Given the description of an element on the screen output the (x, y) to click on. 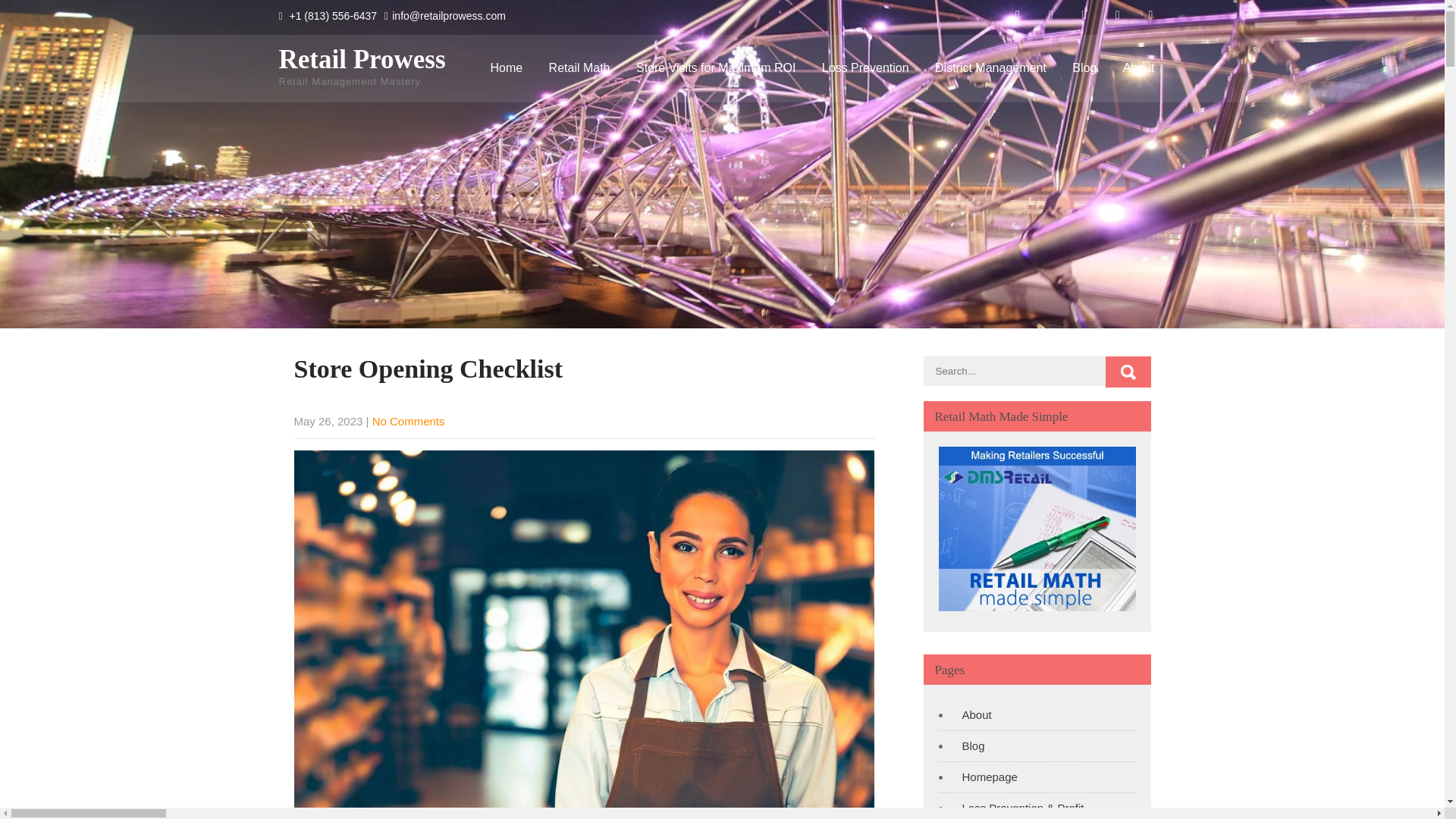
Store Visits for Maximum ROI (715, 68)
Search (1128, 371)
Blog (968, 745)
Homepage (984, 776)
Retail Math (579, 68)
No Comments (408, 420)
Loss Prevention (865, 68)
Search (1128, 371)
Search (1128, 371)
Retail Prowess (362, 58)
